Given the description of an element on the screen output the (x, y) to click on. 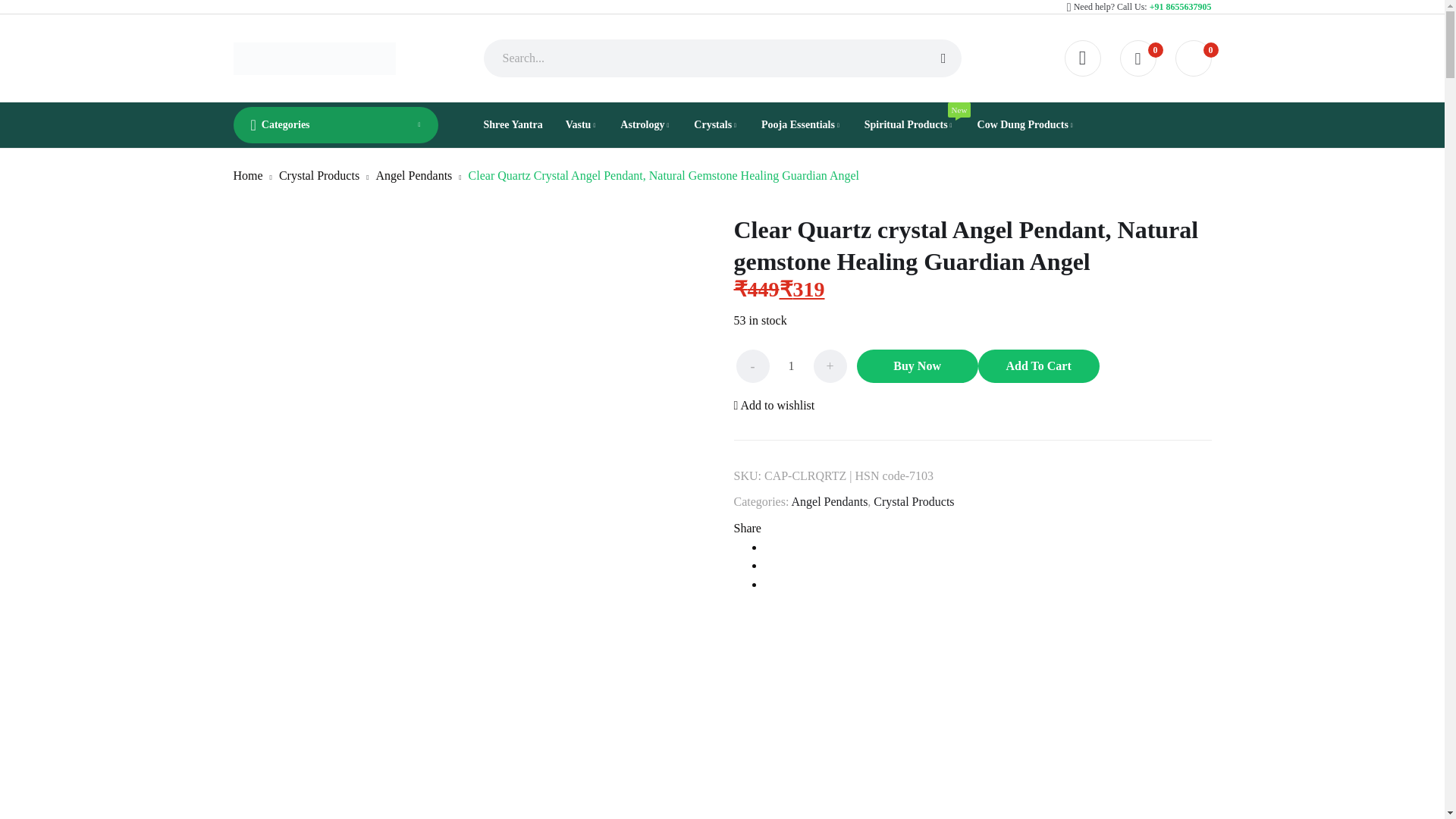
- (751, 366)
Astrology (645, 125)
0 (1192, 58)
1 (790, 366)
0 (1137, 58)
Shree Yantra (513, 125)
